Given the description of an element on the screen output the (x, y) to click on. 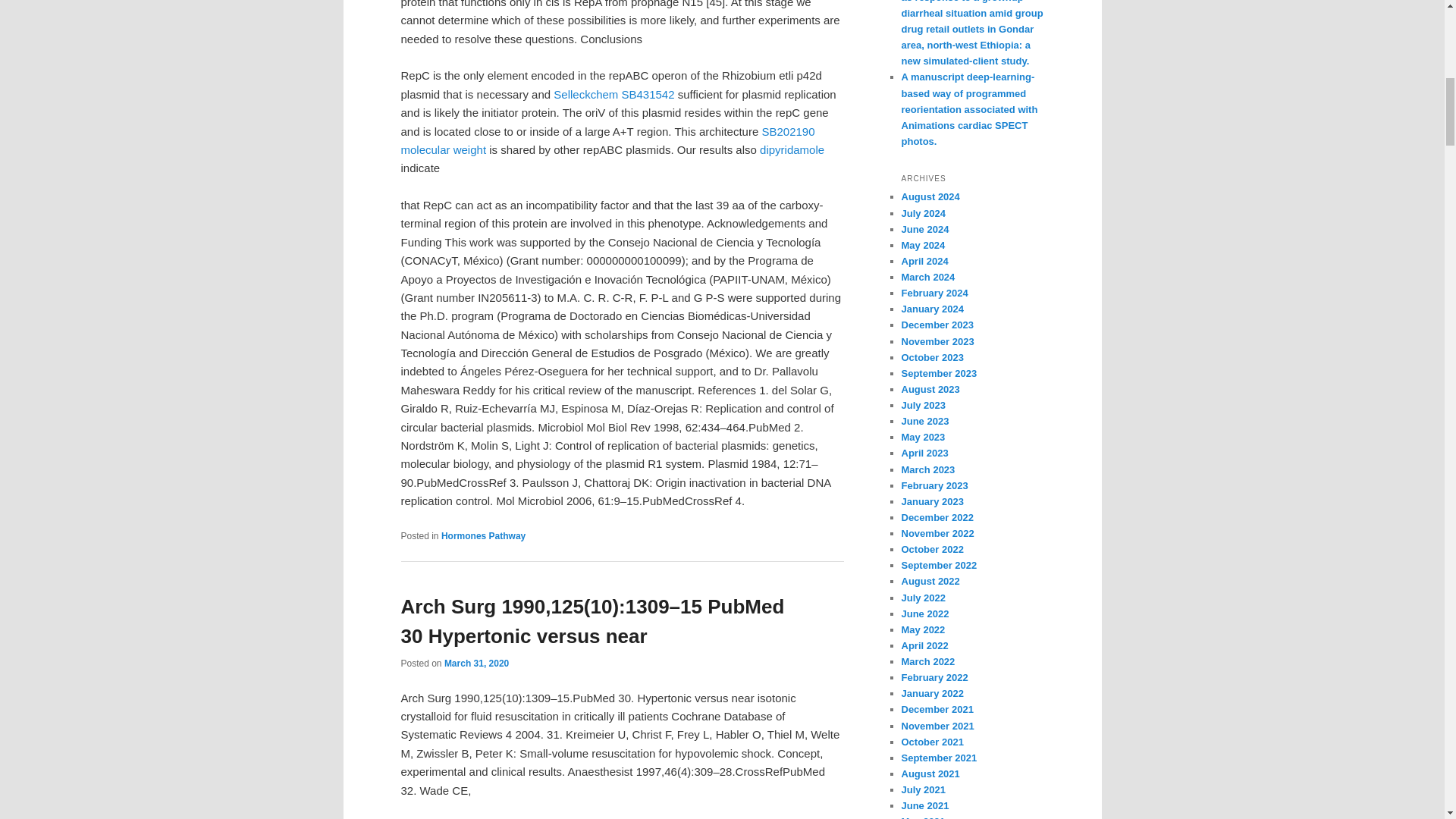
3:13 am (476, 663)
Selleckchem SB431542 (613, 93)
SB202190 molecular weight (606, 140)
dipyridamole (792, 149)
Hormones Pathway (483, 535)
March 31, 2020 (476, 663)
View all posts in Hormones Pathway (483, 535)
